Given the description of an element on the screen output the (x, y) to click on. 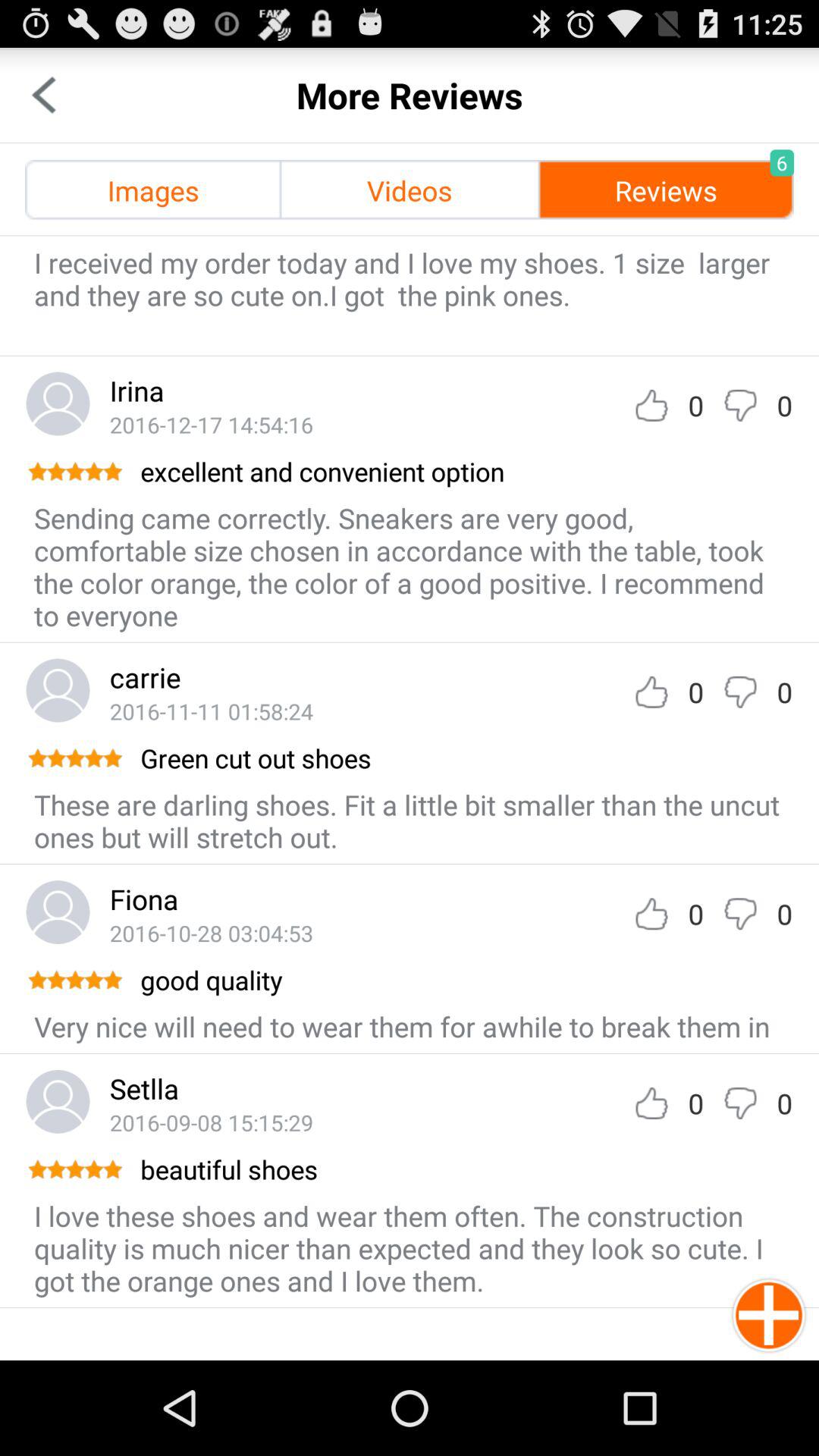
launch good quality icon (465, 979)
